Given the description of an element on the screen output the (x, y) to click on. 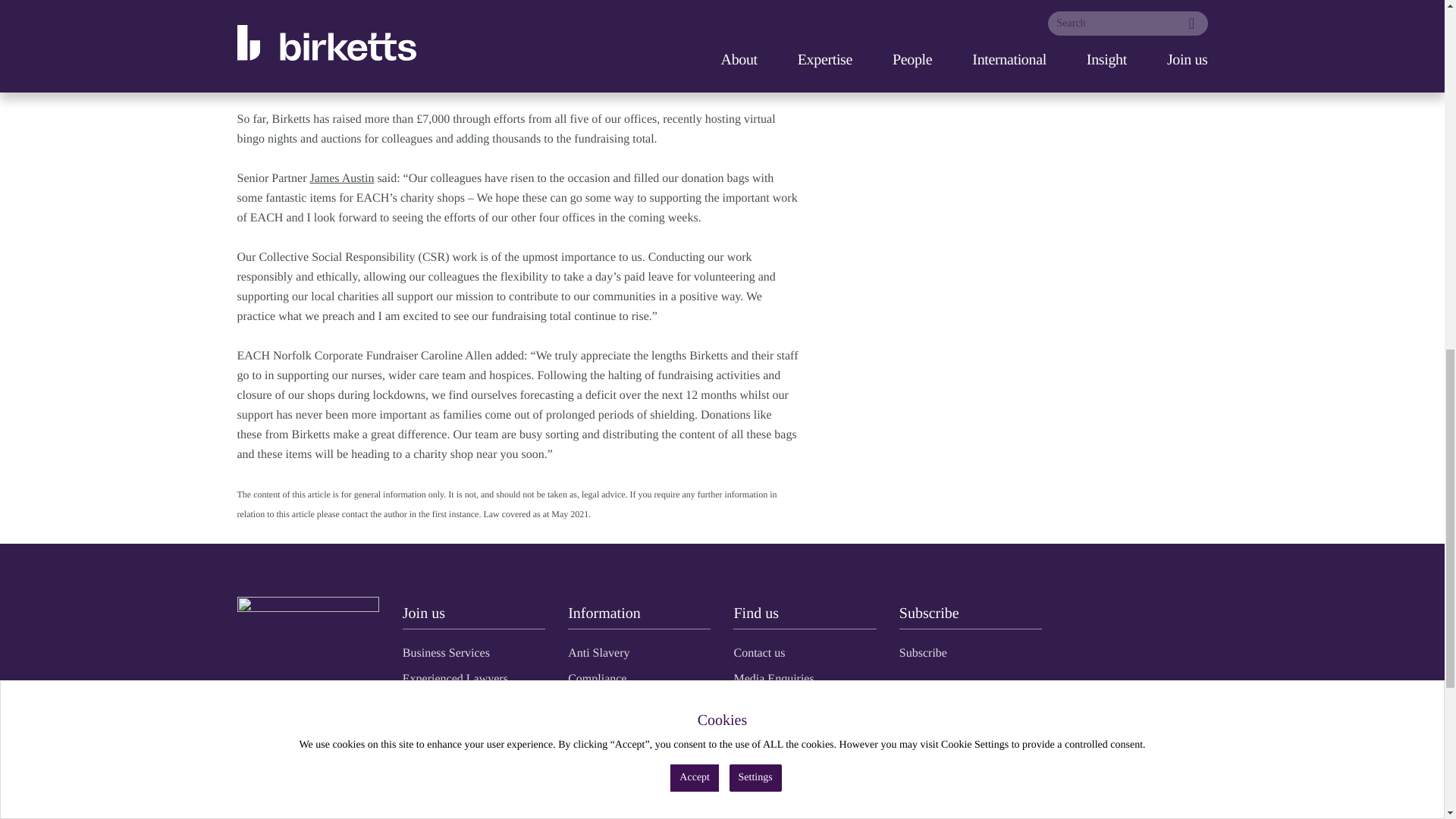
Media Enquiries (773, 677)
Experienced Lawyers (455, 677)
Manage Cookies (608, 807)
Our People (760, 703)
Offices (750, 729)
Legal Notices (600, 780)
Subscribe (923, 652)
Contact us (758, 652)
Graduates (427, 703)
Business Services (446, 652)
